Given the description of an element on the screen output the (x, y) to click on. 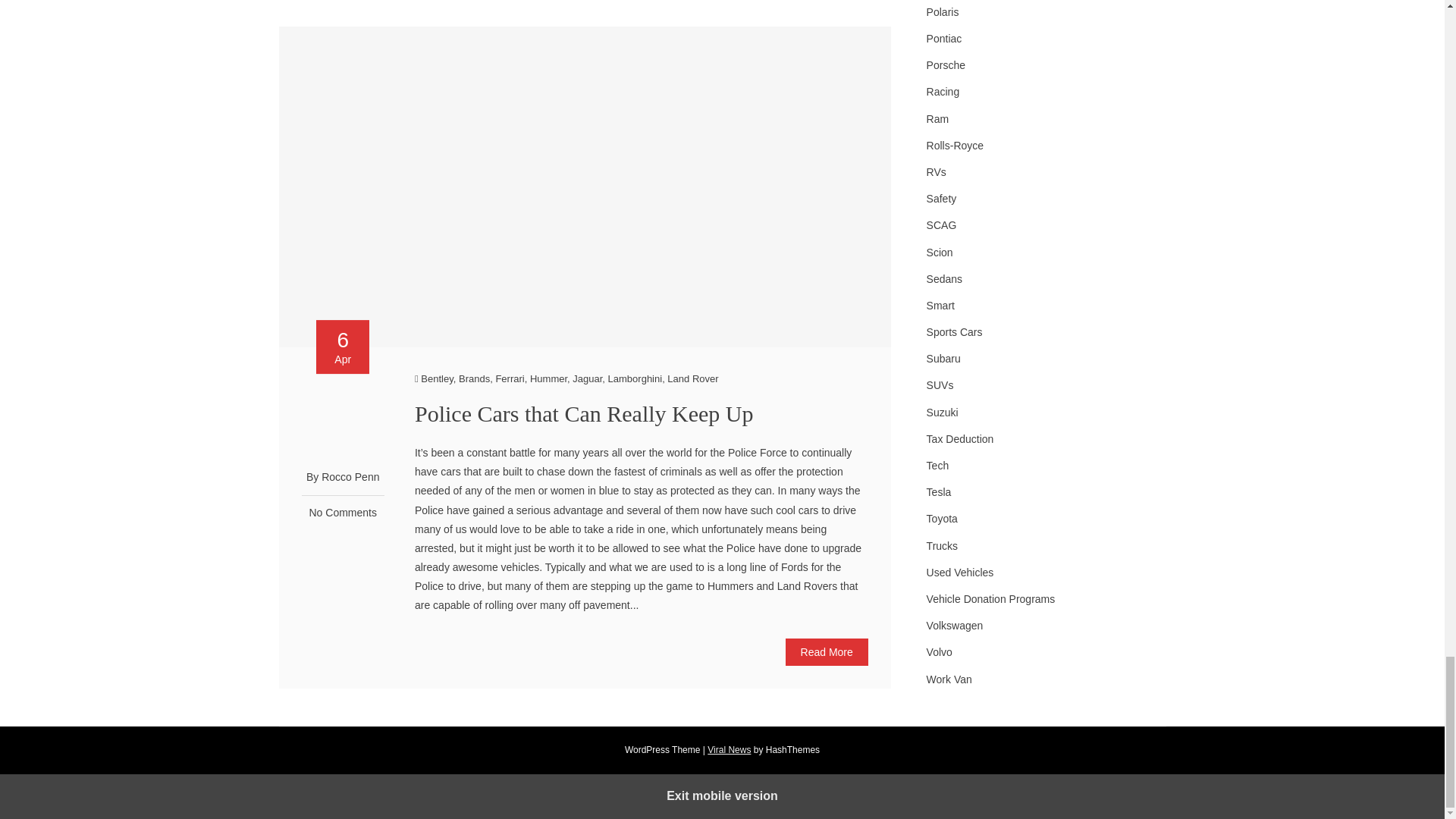
Download Viral News (729, 749)
